Given the description of an element on the screen output the (x, y) to click on. 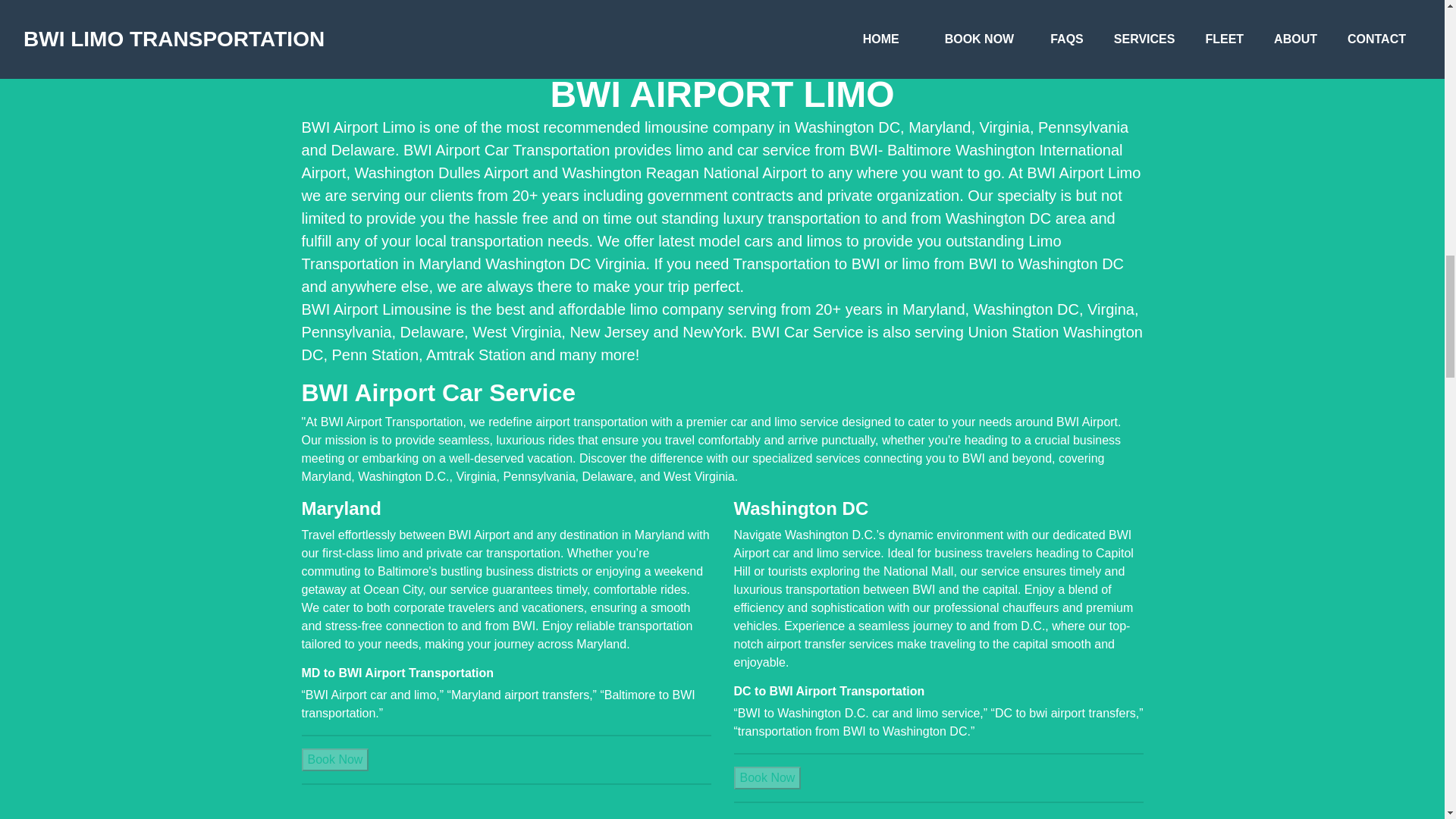
Book Now (766, 777)
Book Now (767, 777)
Book Now (335, 759)
Book Now (334, 758)
